Given the description of an element on the screen output the (x, y) to click on. 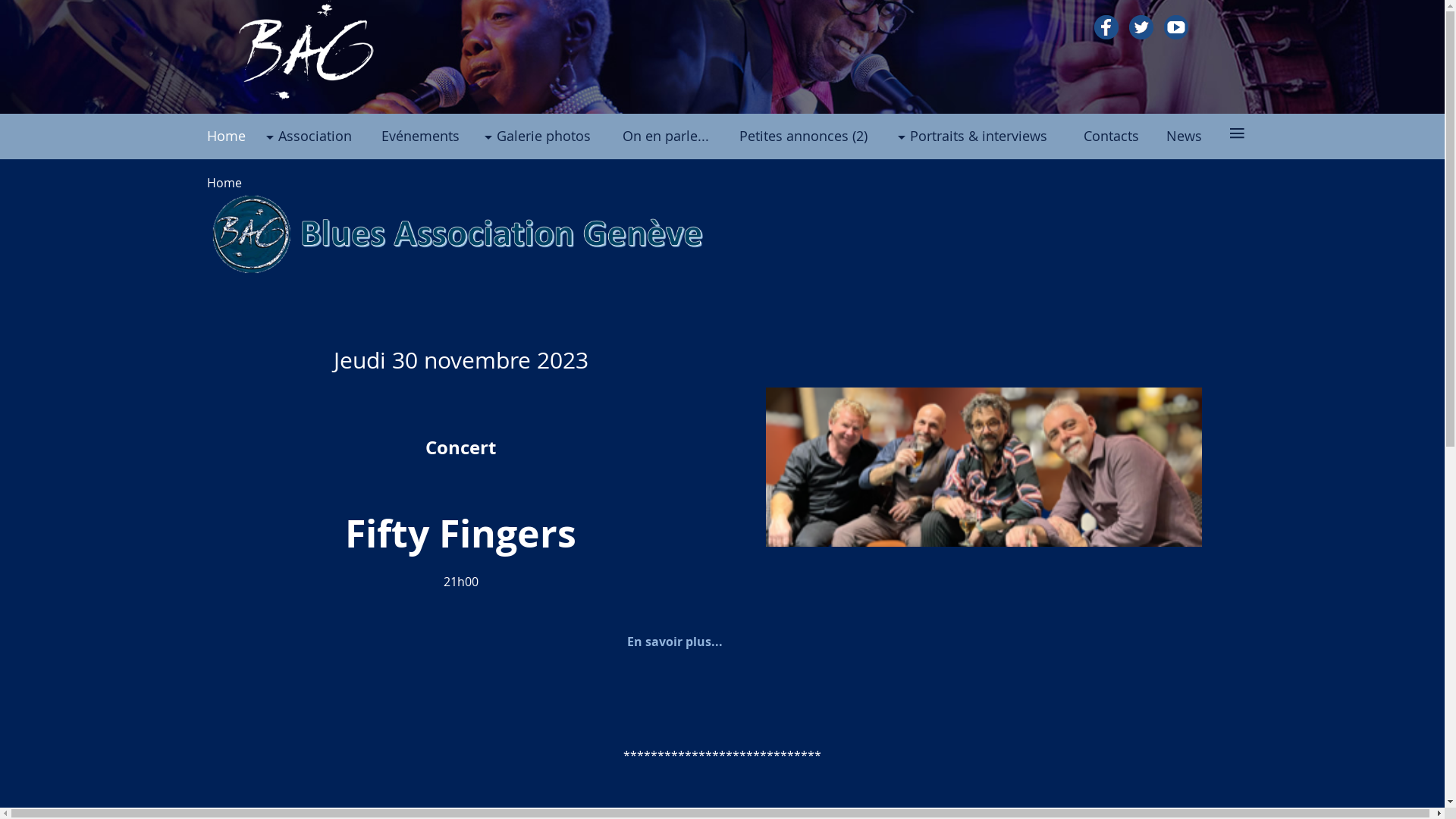
Association Element type: text (325, 136)
YouTube Element type: hover (1175, 27)
Home Element type: text (237, 136)
News Element type: text (1196, 136)
Portraits & interviews Element type: text (992, 136)
On en parle... Element type: text (680, 136)
Twitter Element type: hover (1140, 27)
Contacts Element type: text (1124, 136)
Facebook Element type: hover (1105, 27)
Galerie photos Element type: text (555, 136)
Petites annonces (2) Element type: text (820, 136)
En savoir plus... Element type: text (673, 641)
